Given the description of an element on the screen output the (x, y) to click on. 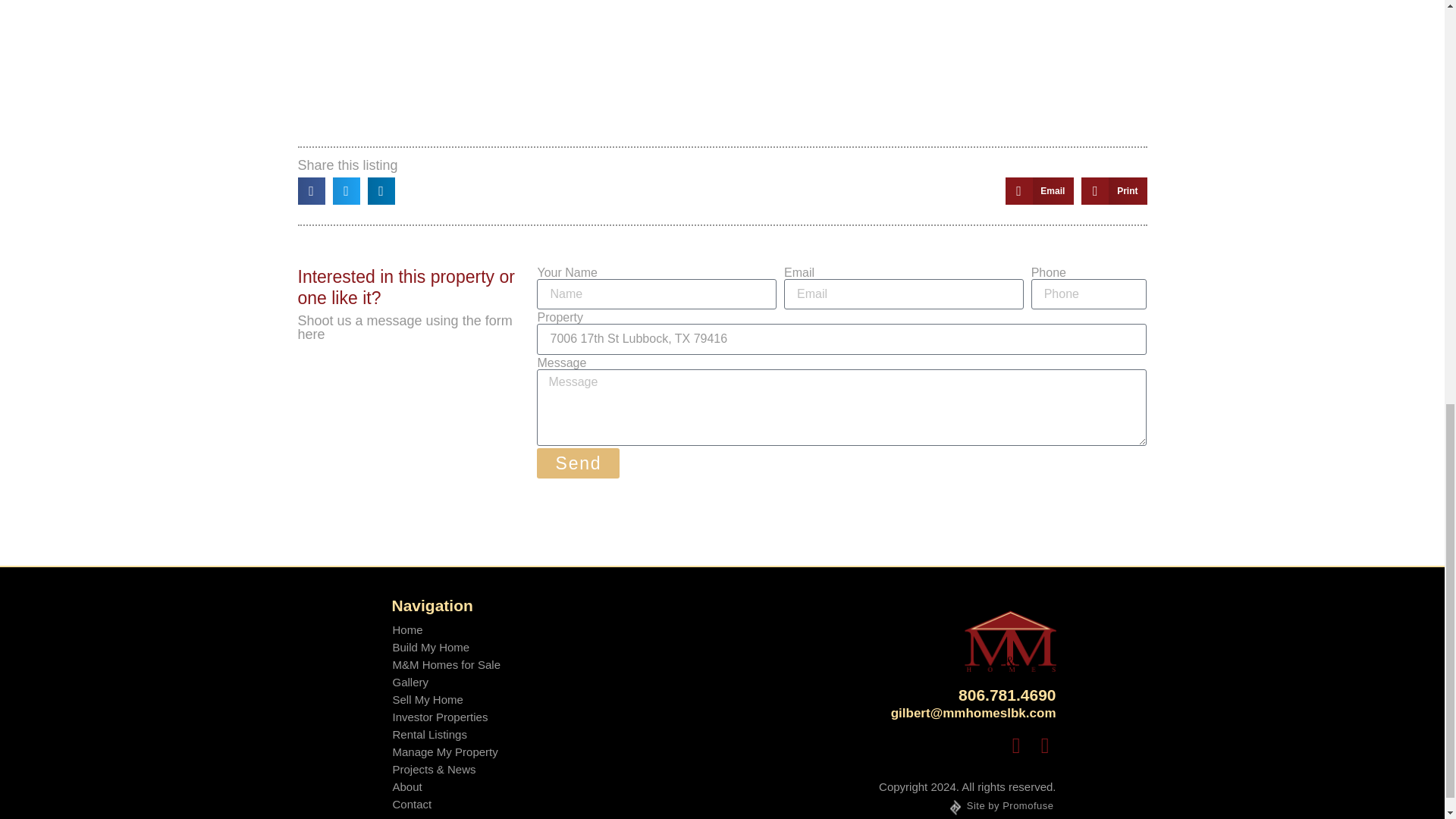
Rental Listings (445, 733)
Build My Home (445, 647)
7006 17th St Lubbock, TX 79416 (842, 338)
Send (578, 462)
Site by Promofuse (1002, 805)
Home (445, 629)
7006 17th St Lubbock, TX 79416 (722, 67)
Contact (445, 804)
Investor Properties (445, 716)
Gallery (445, 682)
